Given the description of an element on the screen output the (x, y) to click on. 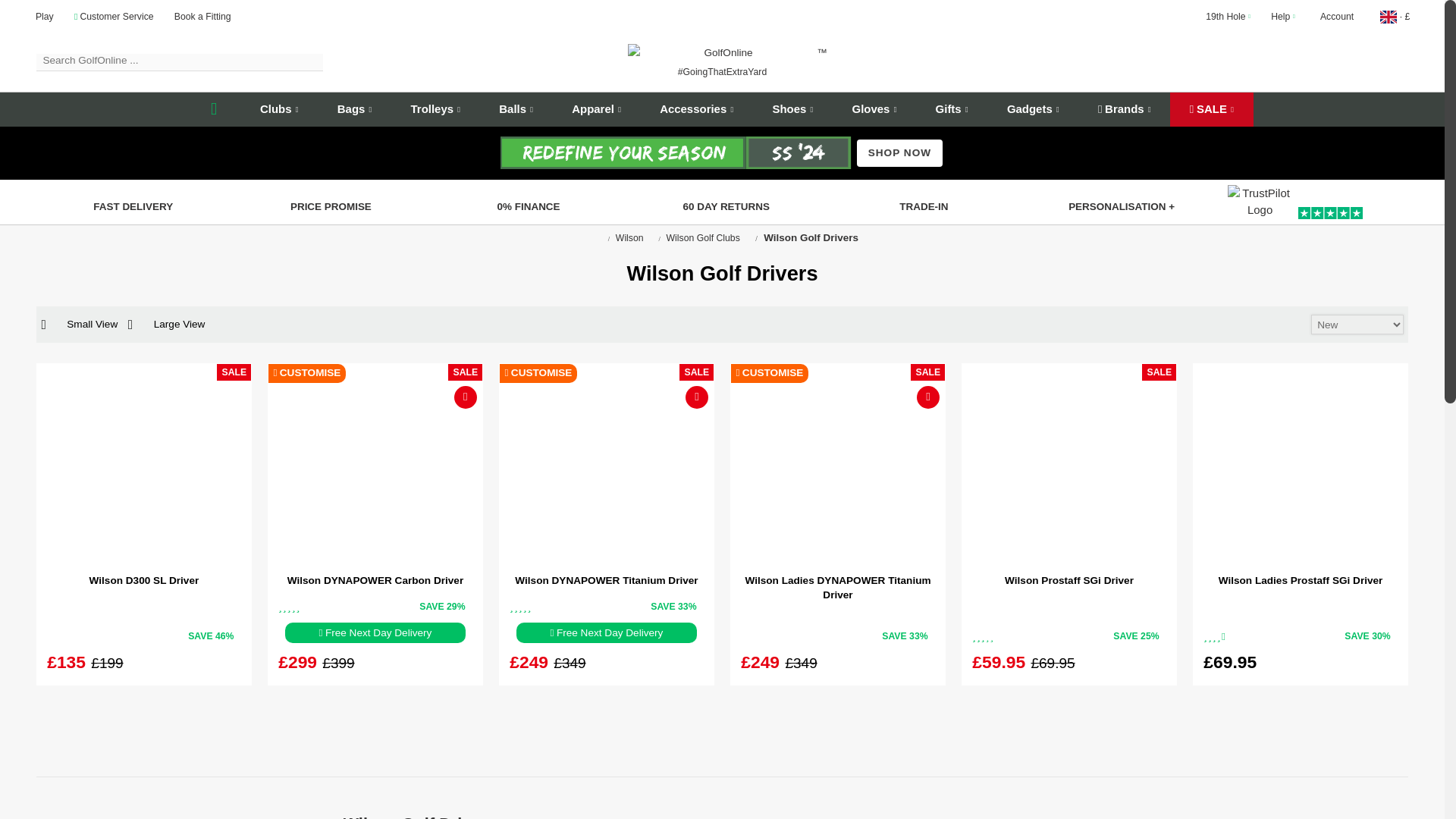
Search GolfOnline ... (179, 63)
Book a Fitting (203, 17)
Gifts (951, 109)
Help (1283, 17)
Accessories (696, 109)
SALE (1211, 109)
Trolleys (435, 109)
Customer Service (114, 17)
Balls (516, 109)
Gadgets (1032, 109)
